Given the description of an element on the screen output the (x, y) to click on. 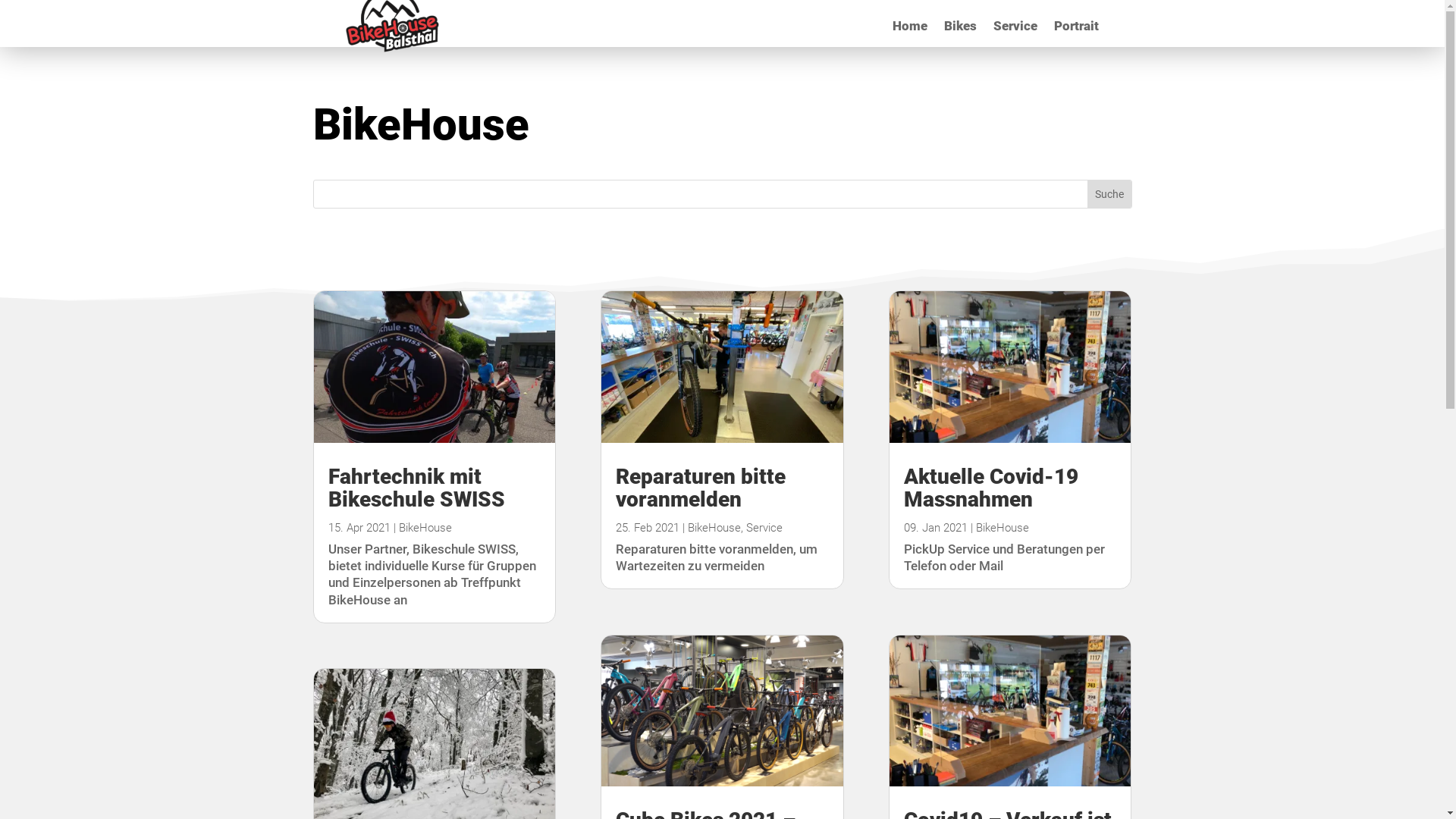
BikeHouse Element type: text (713, 527)
Aktuelle Covid-19 Massnahmen Element type: text (990, 488)
BikeHouse Element type: text (424, 527)
BikeHouse Element type: text (1002, 527)
Service Element type: text (764, 527)
Fahrtechnik mit Bikeschule SWISS Element type: text (415, 488)
Suche Element type: text (1109, 193)
Reparaturen bitte voranmelden Element type: text (700, 488)
